Given the description of an element on the screen output the (x, y) to click on. 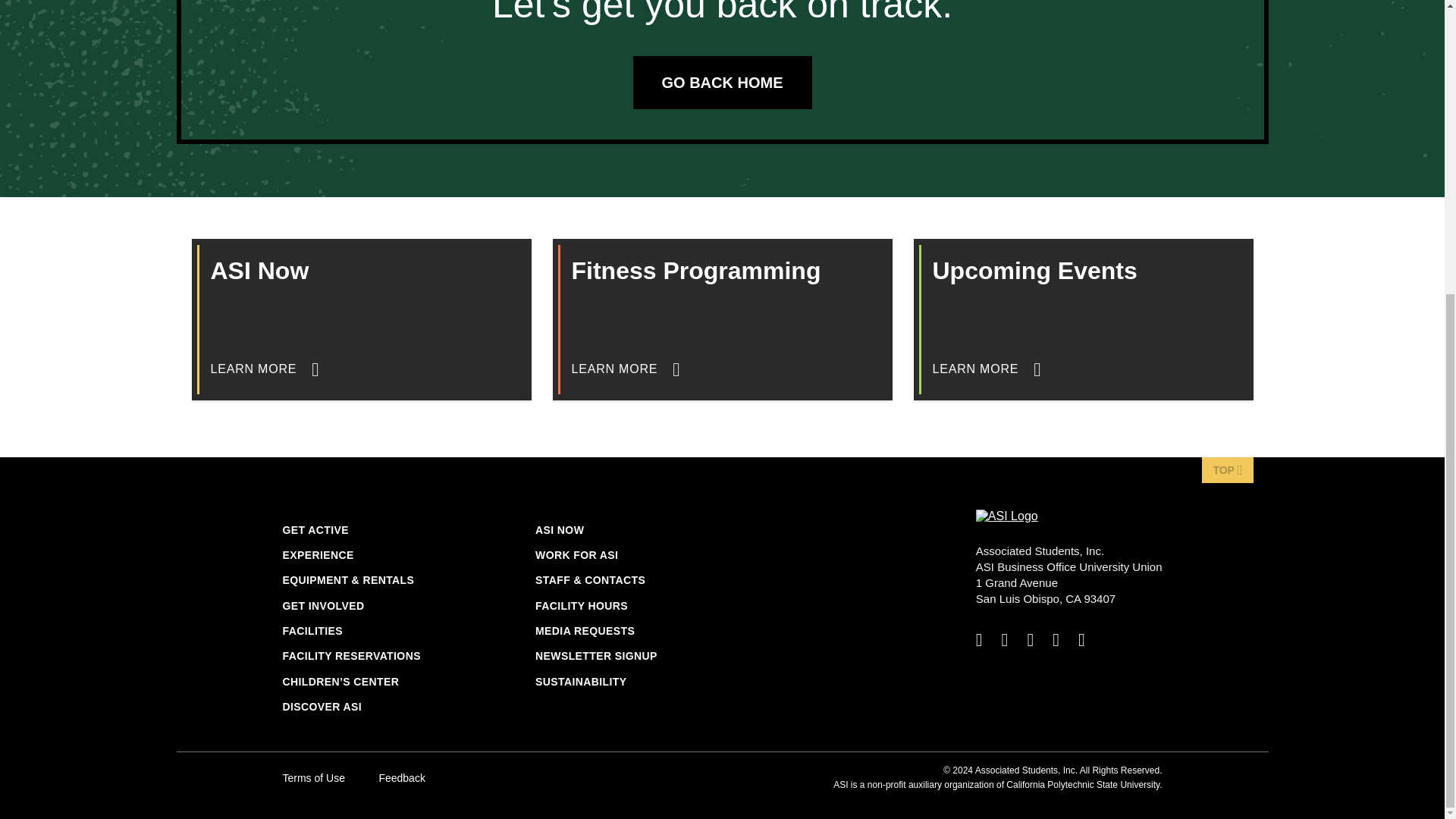
ASI Cal Poly (1006, 516)
